Given the description of an element on the screen output the (x, y) to click on. 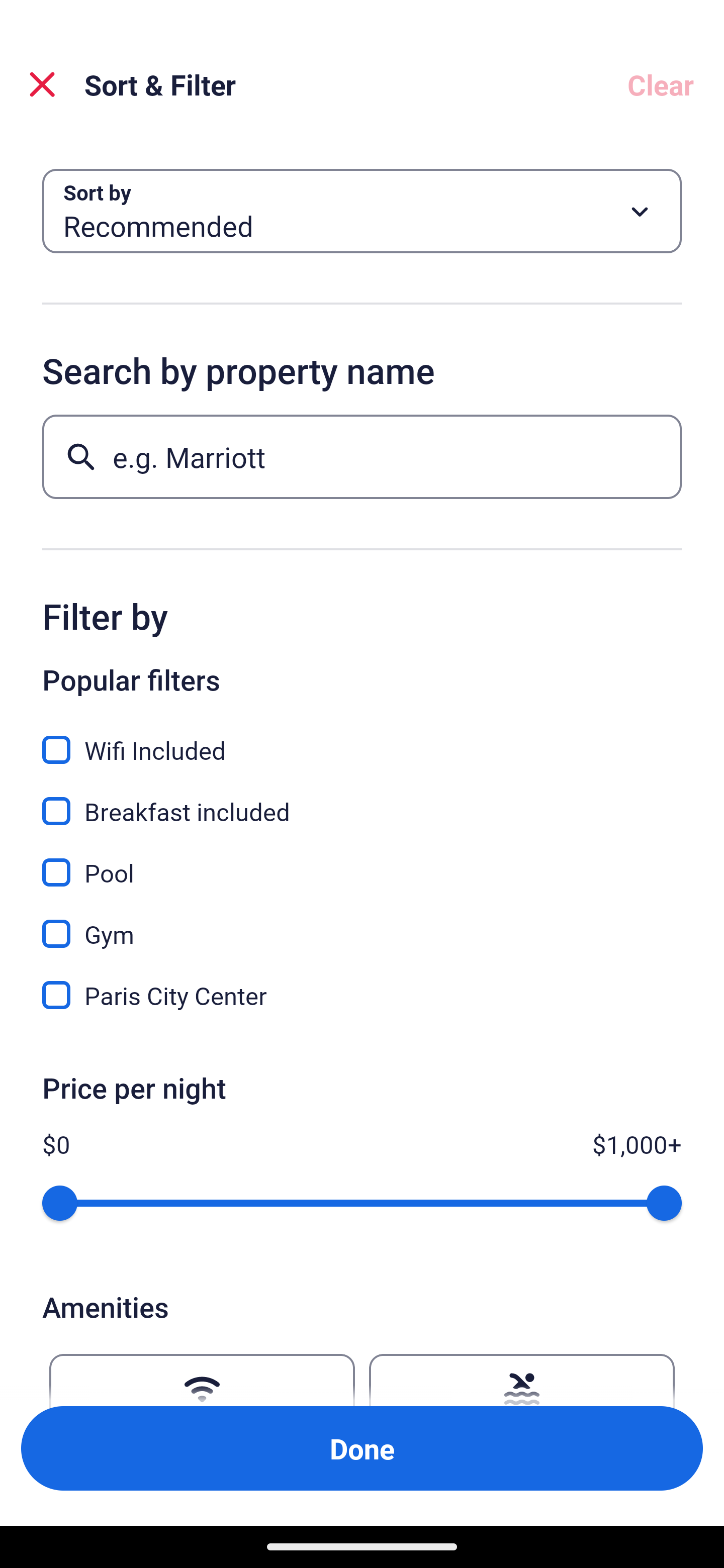
Close Sort and Filter (42, 84)
Clear (660, 84)
Sort by Button Recommended (361, 211)
e.g. Marriott Button (361, 455)
Wifi Included, Wifi Included (361, 738)
Breakfast included, Breakfast included (361, 800)
Pool, Pool (361, 861)
Gym, Gym (361, 922)
Paris City Center, Paris City Center (361, 995)
Apply and close Sort and Filter Done (361, 1448)
